Given the description of an element on the screen output the (x, y) to click on. 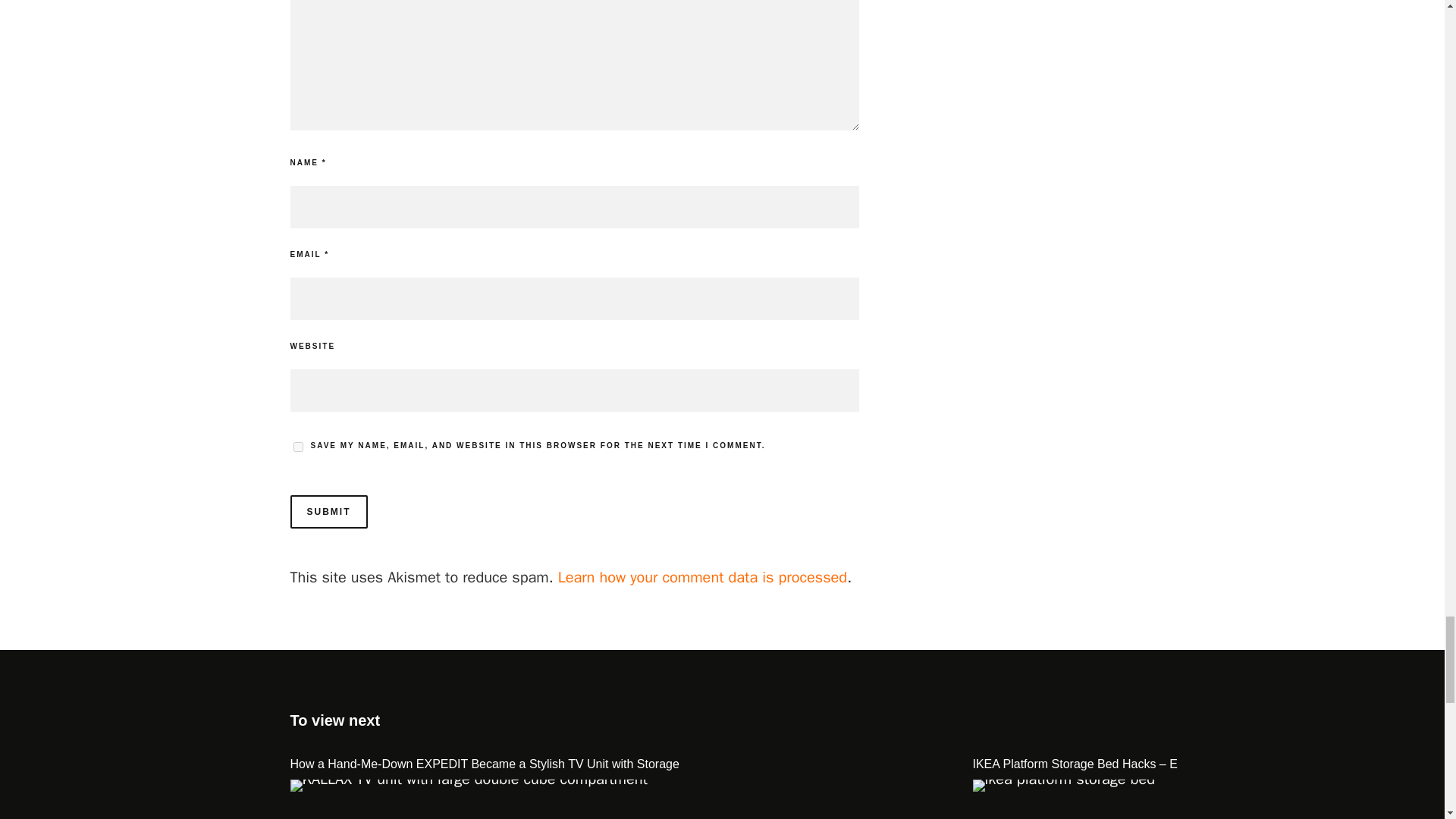
Submit (327, 511)
yes (297, 447)
